Given the description of an element on the screen output the (x, y) to click on. 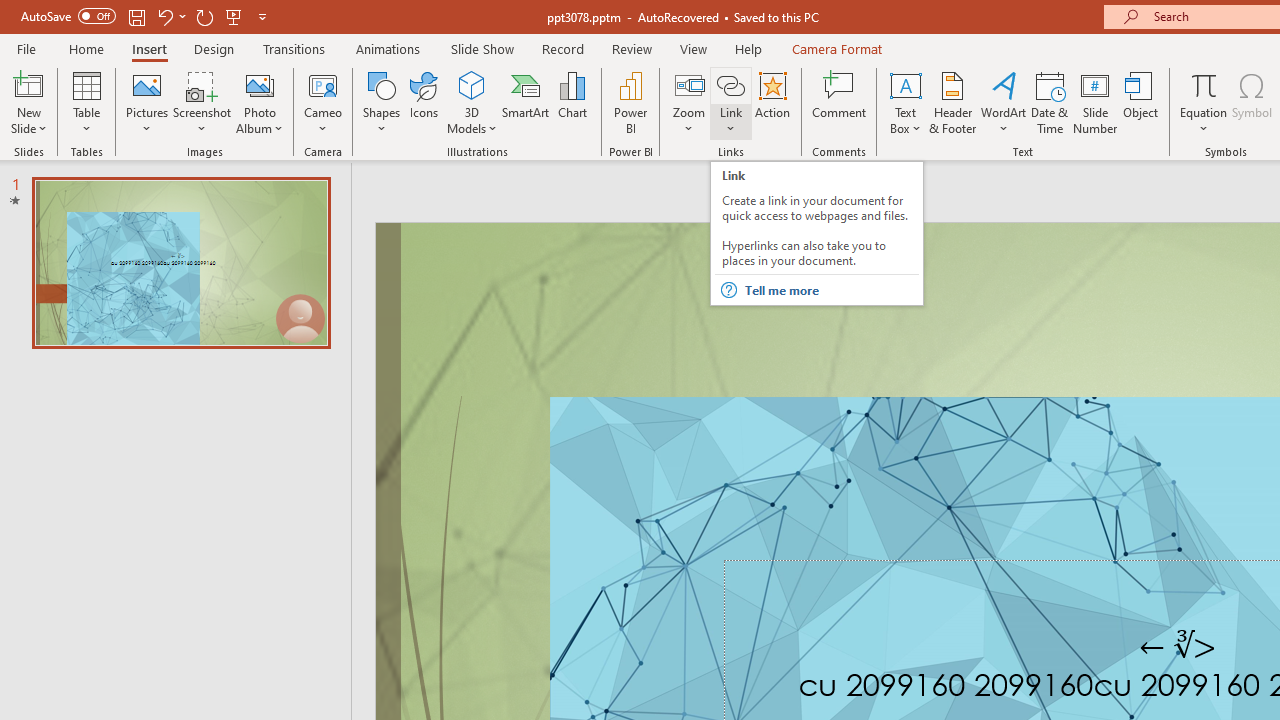
Link (731, 84)
Link (731, 102)
Home (86, 48)
TextBox 7 (1178, 646)
Draw Horizontal Text Box (905, 84)
New Slide (28, 84)
Text Box (905, 102)
More Options (1203, 121)
Object... (1141, 102)
New Photo Album... (259, 84)
New Slide (28, 102)
Equation (1203, 102)
Date & Time... (1050, 102)
